Given the description of an element on the screen output the (x, y) to click on. 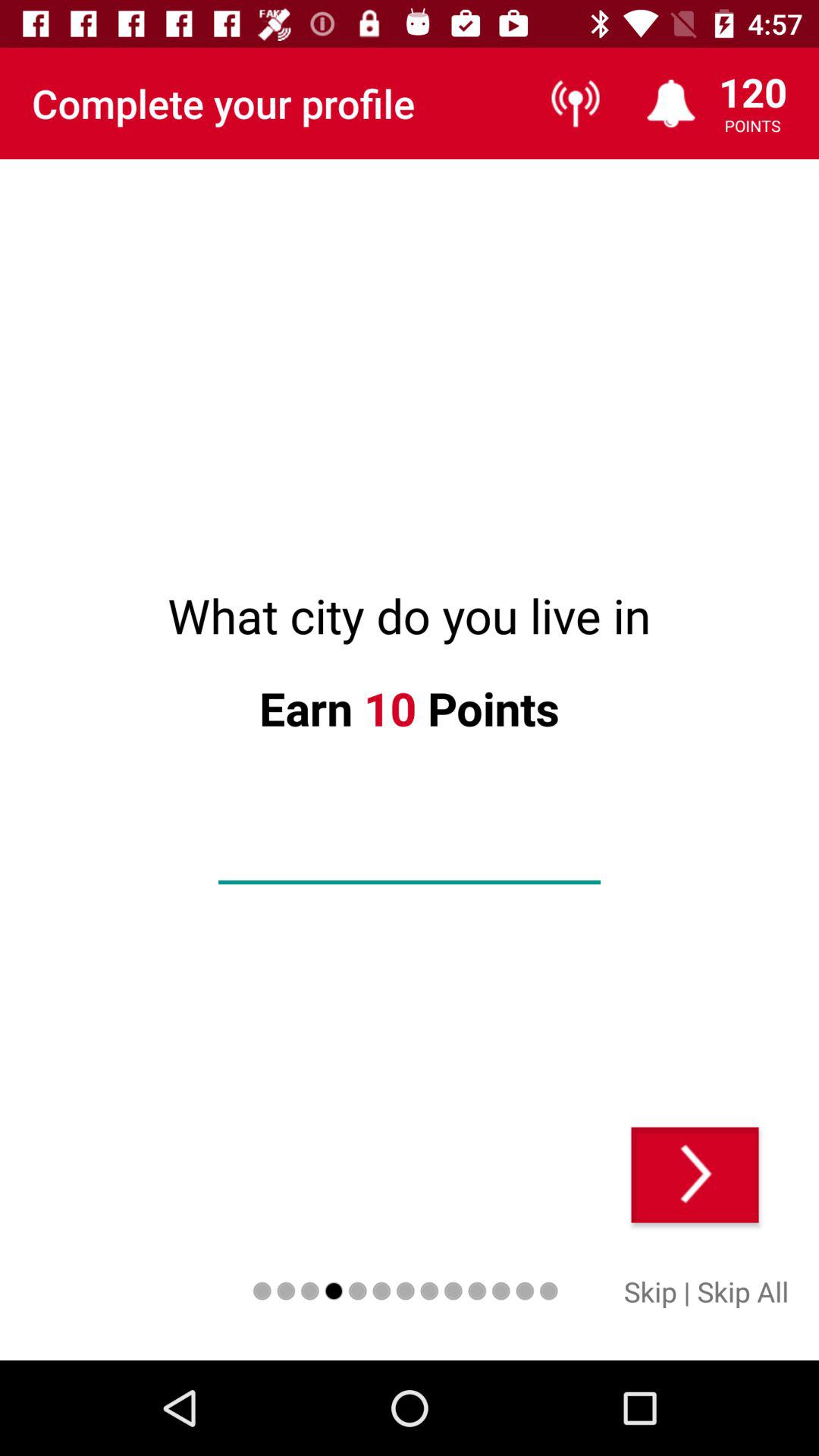
select skip (650, 1291)
select the notification icon which is on the top (671, 103)
